Given the description of an element on the screen output the (x, y) to click on. 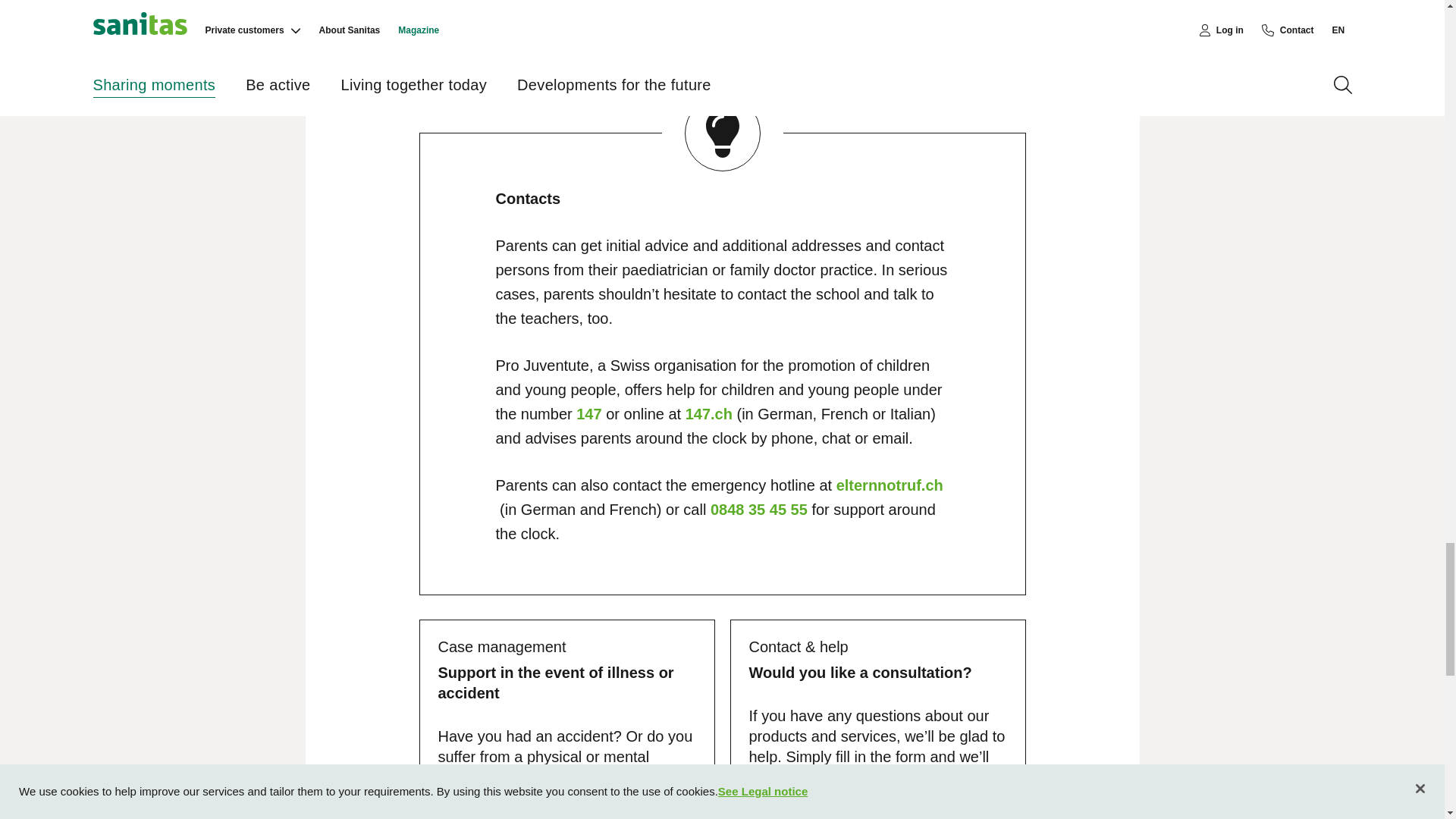
elternnotruf.ch (889, 484)
147 (588, 413)
147.ch (708, 413)
0848 35 45 55 (759, 509)
